Given the description of an element on the screen output the (x, y) to click on. 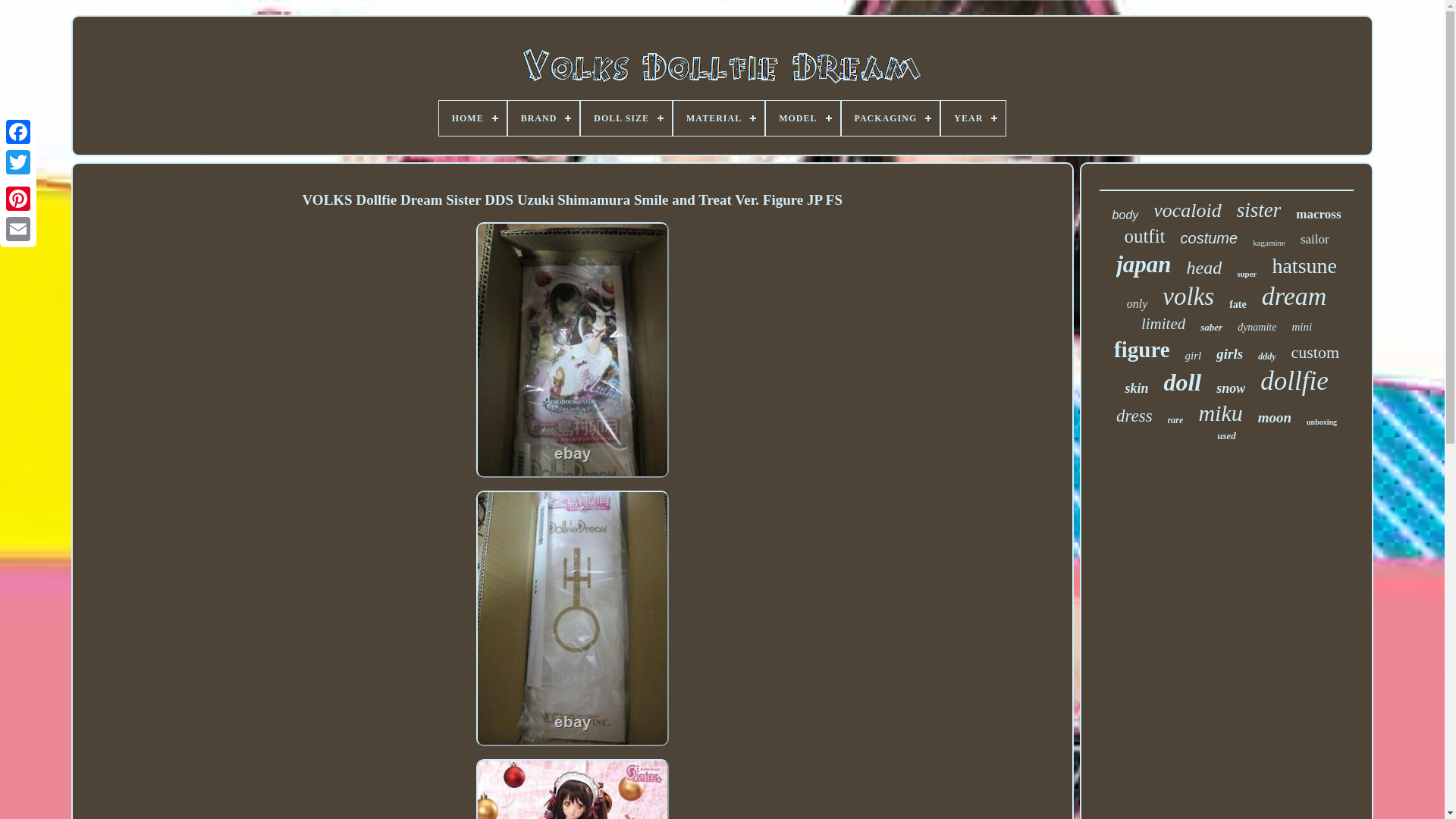
BRAND (543, 117)
DOLL SIZE (625, 117)
Facebook (17, 132)
HOME (472, 117)
